Given the description of an element on the screen output the (x, y) to click on. 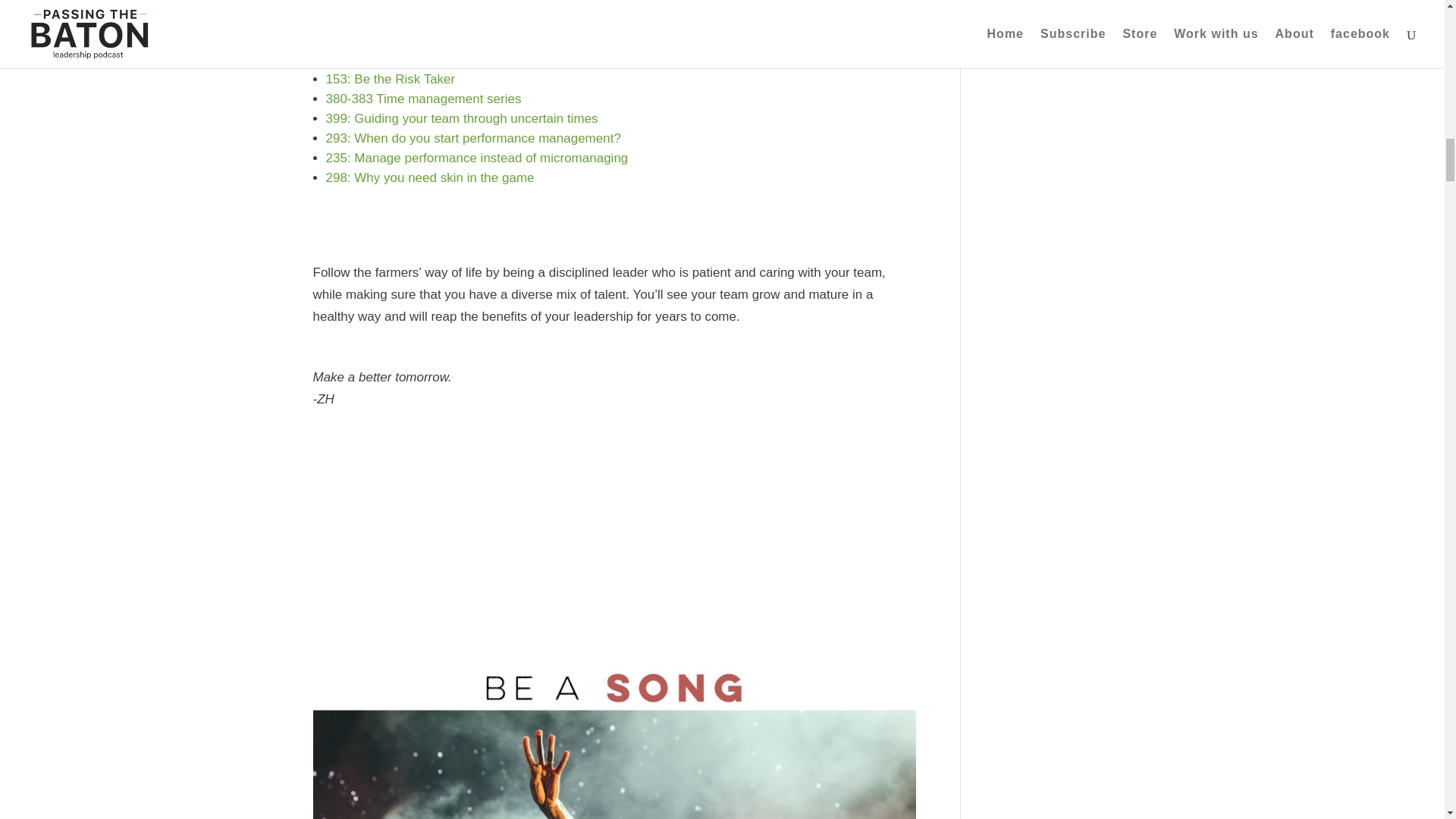
380-383 Time management series (423, 98)
399: Guiding your team through uncertain times (462, 118)
153: Be the Risk Taker (390, 79)
293: When do you start performance management? (473, 138)
345: Help your team become better problem solvers (474, 59)
298: Why you need skin in the game (430, 177)
235: Manage performance instead of micromanaging (477, 157)
